Given the description of an element on the screen output the (x, y) to click on. 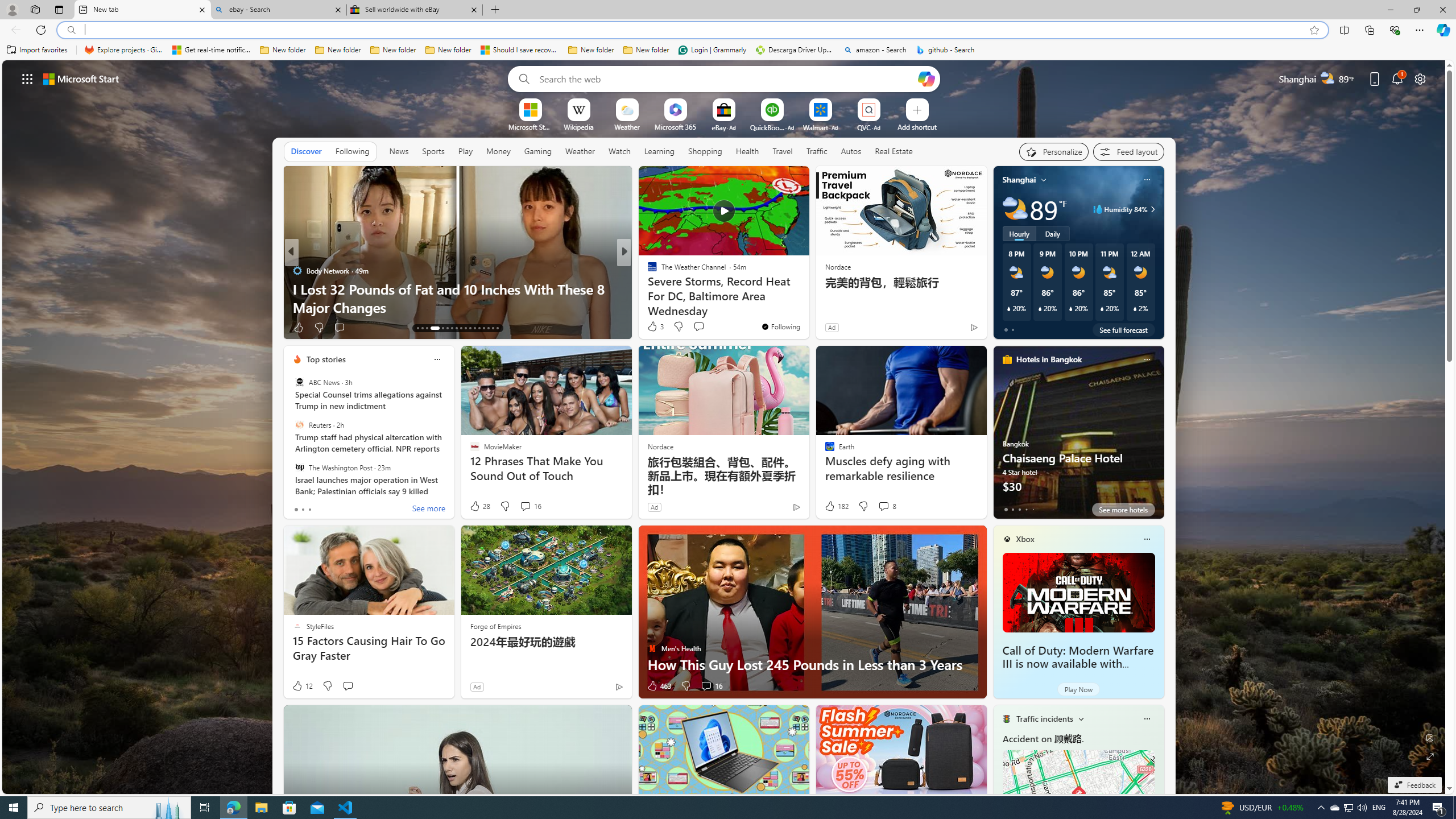
AutomationID: tab-17 (439, 328)
App bar (728, 29)
App launcher (27, 78)
Notifications (1397, 78)
Feed settings (1128, 151)
News (398, 151)
More options (1146, 718)
Travel (782, 151)
tab-2 (1019, 509)
463 Like (658, 685)
Lonely dolphin may be behind series of attacks on swimmers (807, 298)
Class: weather-arrow-glyph (1152, 208)
